Given the description of an element on the screen output the (x, y) to click on. 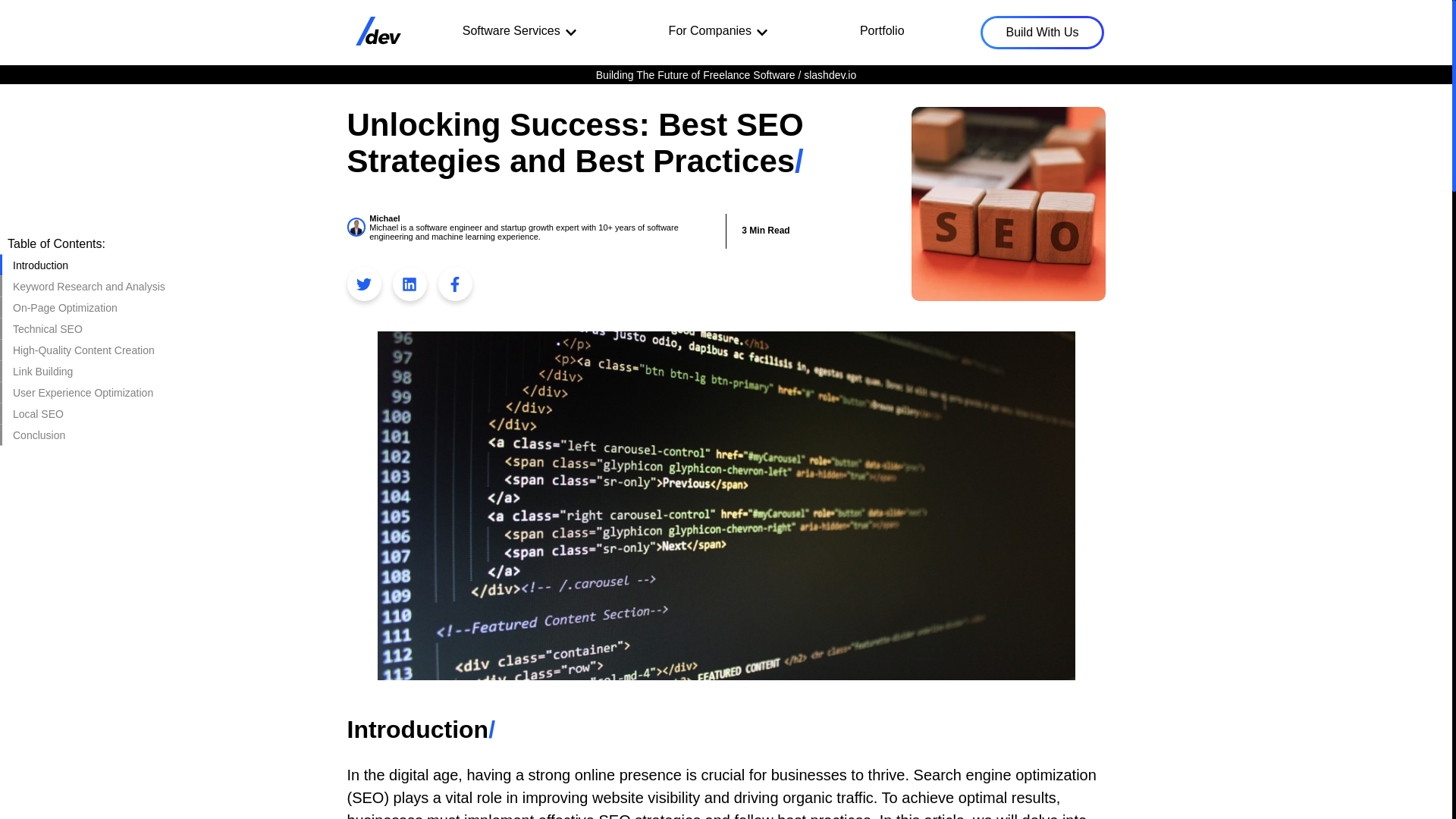
High-Quality Content Creation (88, 350)
On-Page Optimization (88, 307)
Keyword Research and Analysis (88, 286)
Introduction (88, 265)
Link Building (88, 371)
Technical SEO (88, 328)
Conclusion (88, 435)
Local SEO (88, 414)
User Experience Optimization (88, 392)
